Given the description of an element on the screen output the (x, y) to click on. 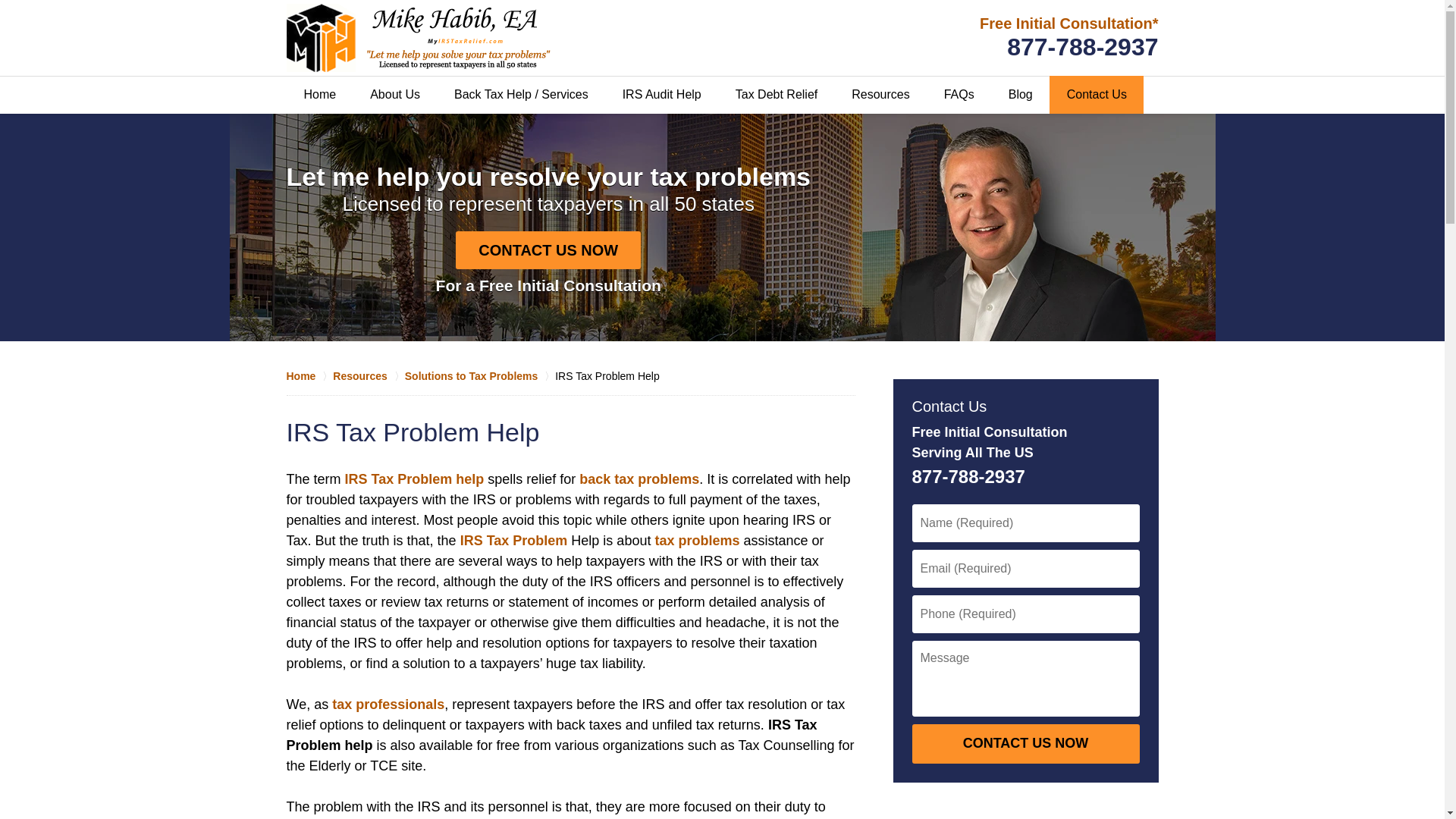
About Us (394, 94)
tax problems (696, 540)
CONTACT US NOW (547, 249)
CONTACT US NOW (1024, 743)
Tax Debt Relief (775, 94)
Blog (1020, 94)
Los Angeles Tax Services Mike Habib, EA Home (418, 38)
Contact Us (1095, 94)
IRS Audit Help (661, 94)
IRS Tax Problem help (414, 478)
Home (319, 94)
Solutions to Tax Problems (479, 376)
back tax problems (638, 478)
Back to Home (418, 38)
FAQs (958, 94)
